Given the description of an element on the screen output the (x, y) to click on. 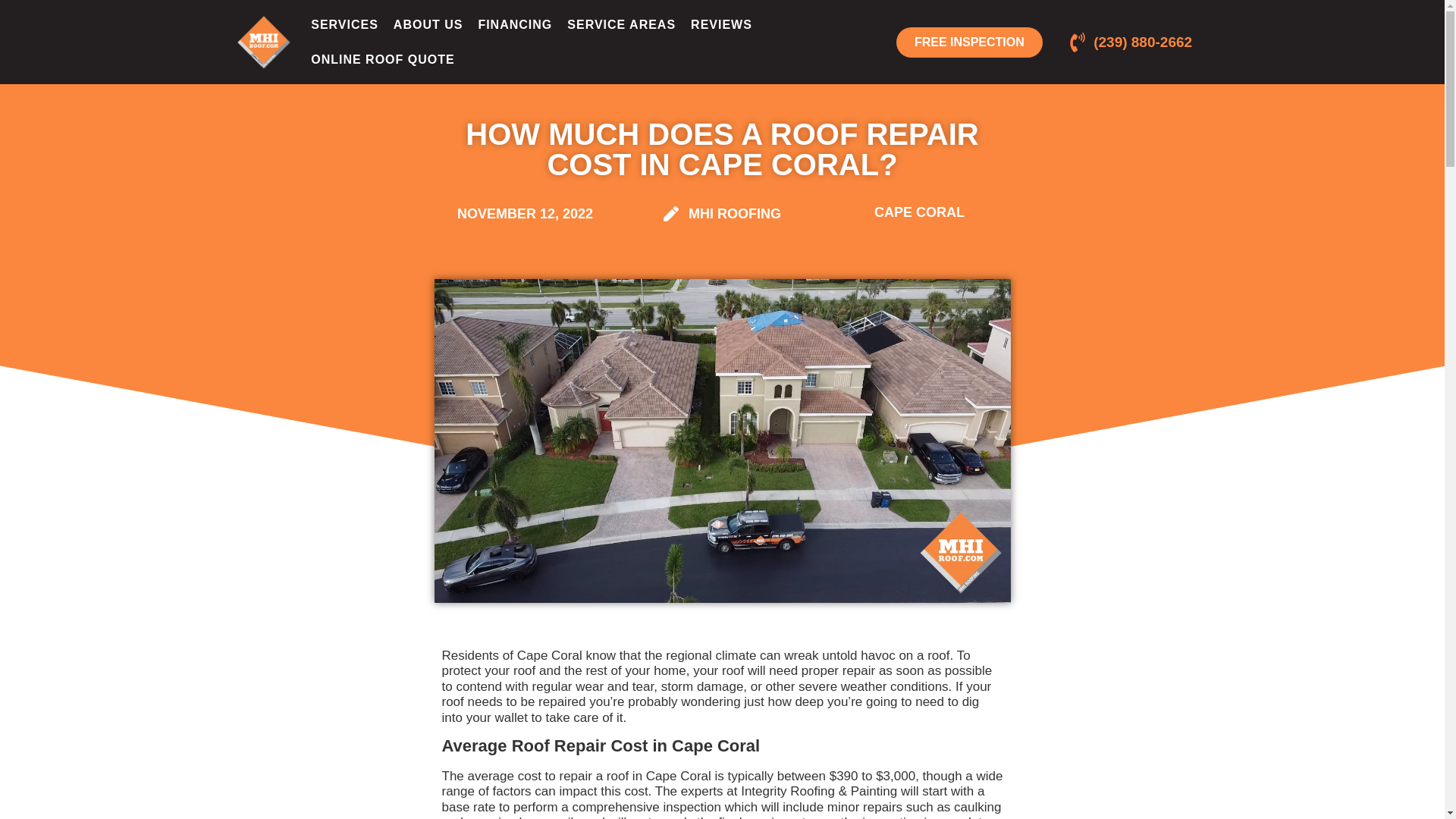
REVIEWS (721, 24)
FINANCING (514, 24)
SERVICES (343, 24)
ABOUT US (427, 24)
SERVICE AREAS (620, 24)
ONLINE ROOF QUOTE (381, 59)
